Given the description of an element on the screen output the (x, y) to click on. 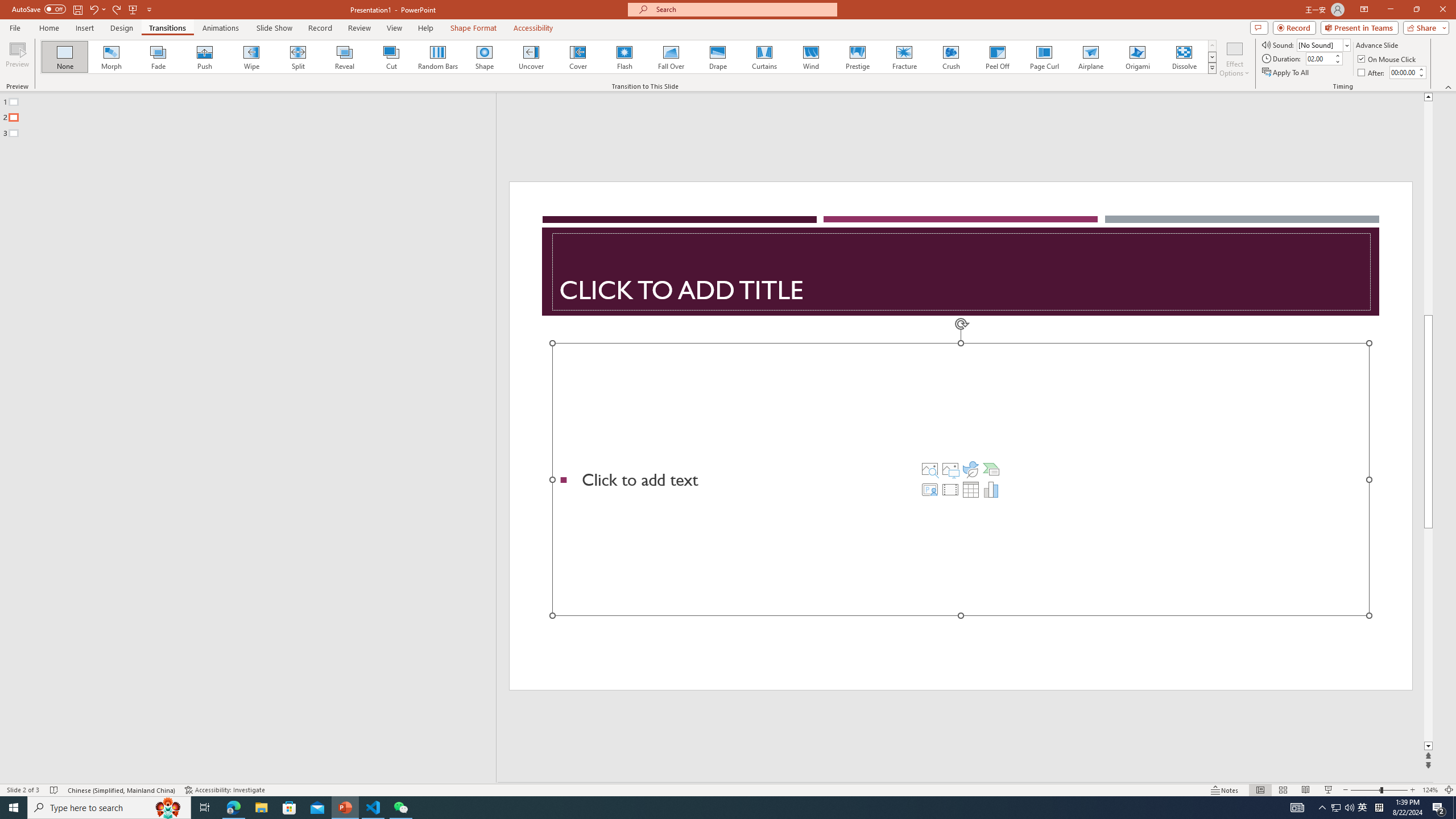
AutomationID: AnimationTransitionGallery (628, 56)
Fall Over (670, 56)
Wind (810, 56)
